Given the description of an element on the screen output the (x, y) to click on. 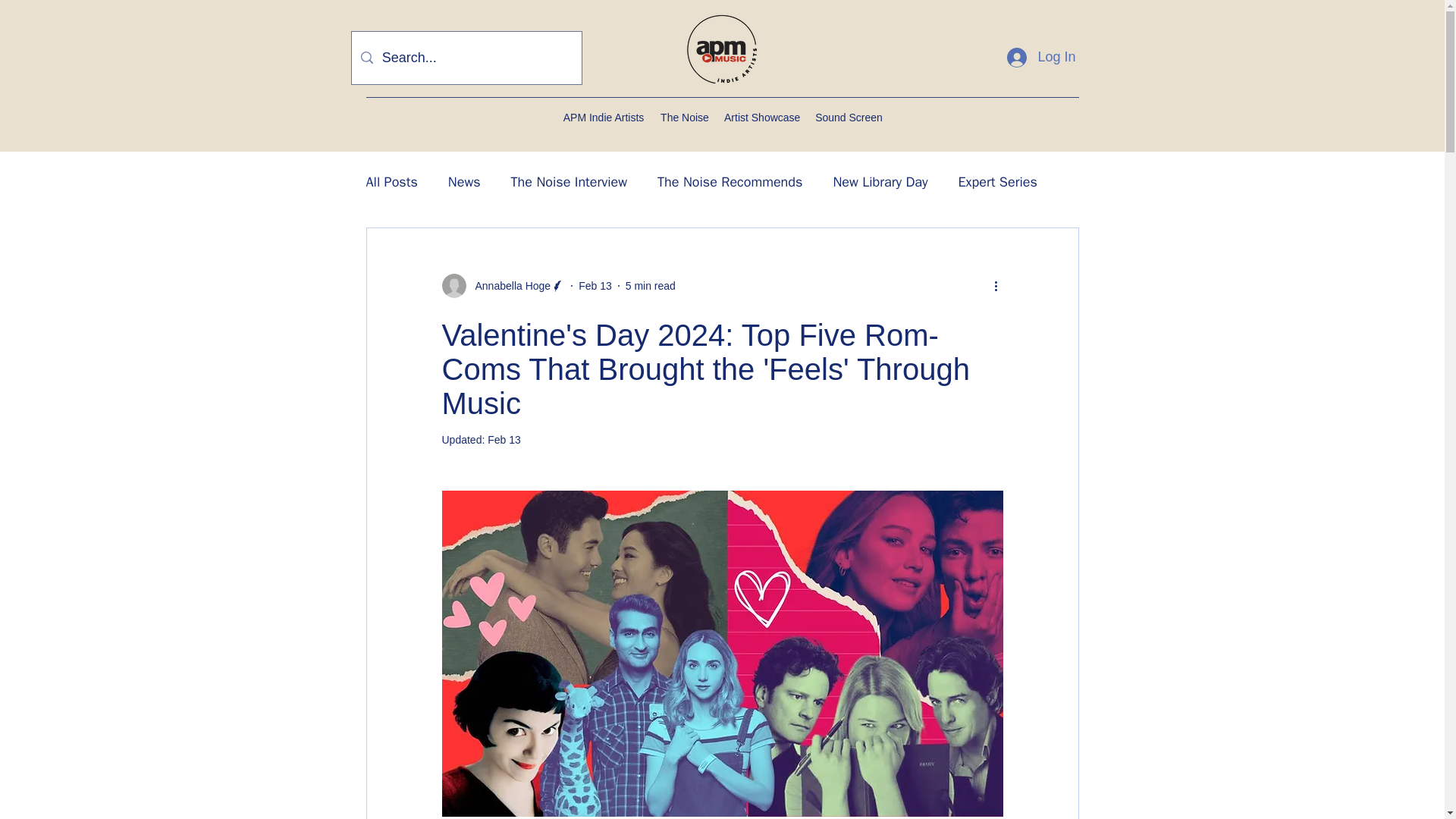
The Noise Interview (569, 181)
Sound Screen (848, 117)
APM Indie Artists (603, 117)
New Library Day (879, 181)
5 min read (650, 285)
Annabella Hoge (507, 285)
All Posts (390, 181)
The Noise (684, 117)
Annabella Hoge (502, 285)
Log In (1040, 57)
News (464, 181)
Artist Showcase (762, 117)
Feb 13 (594, 285)
Expert Series (997, 181)
The Noise Recommends (730, 181)
